Given the description of an element on the screen output the (x, y) to click on. 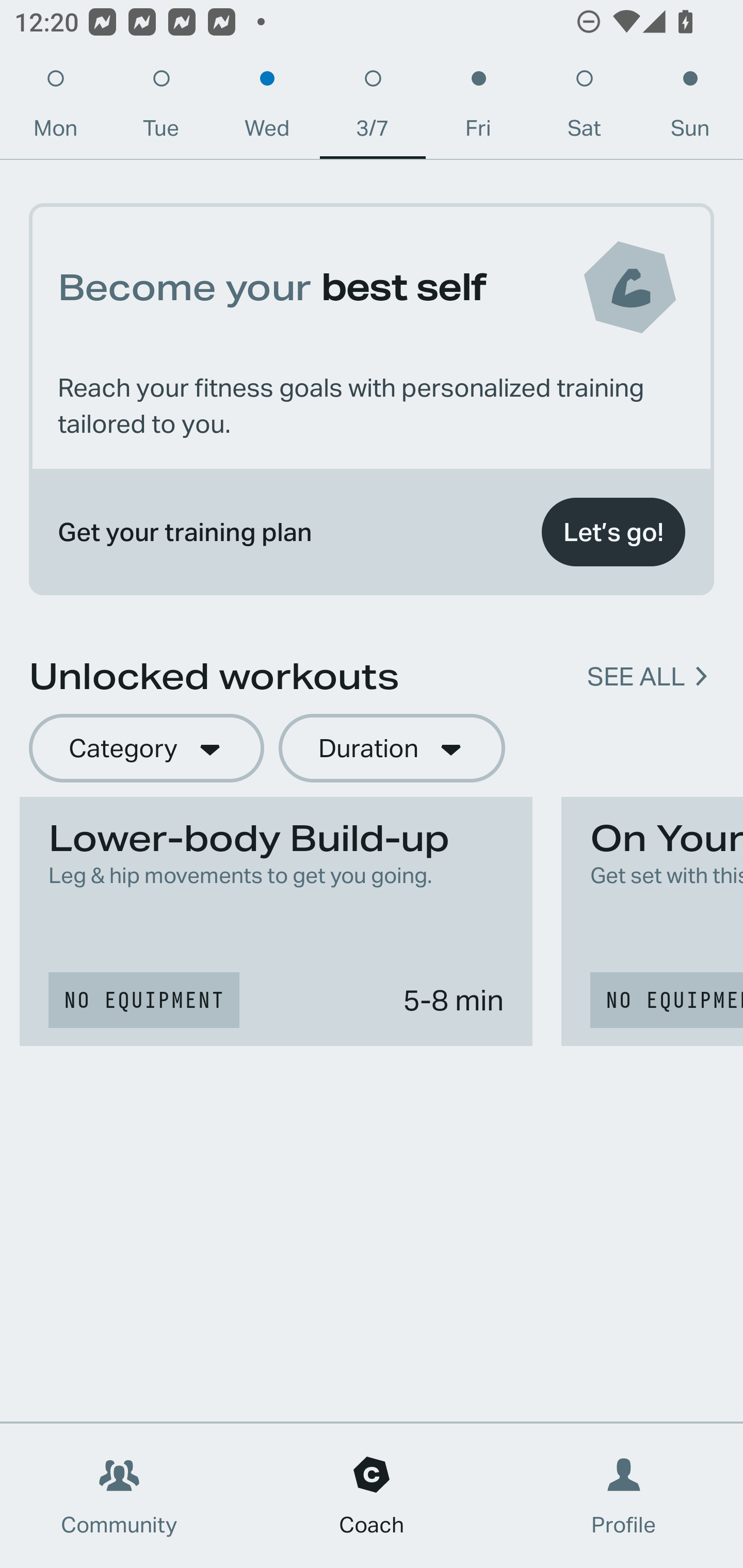
Mon (55, 108)
Tue (160, 108)
Wed (266, 108)
3/7 (372, 108)
Fri (478, 108)
Sat (584, 108)
Sun (690, 108)
Let’s go! (613, 532)
SEE ALL (635, 676)
Category (146, 748)
Duration (391, 748)
Community (119, 1495)
Profile (624, 1495)
